Given the description of an element on the screen output the (x, y) to click on. 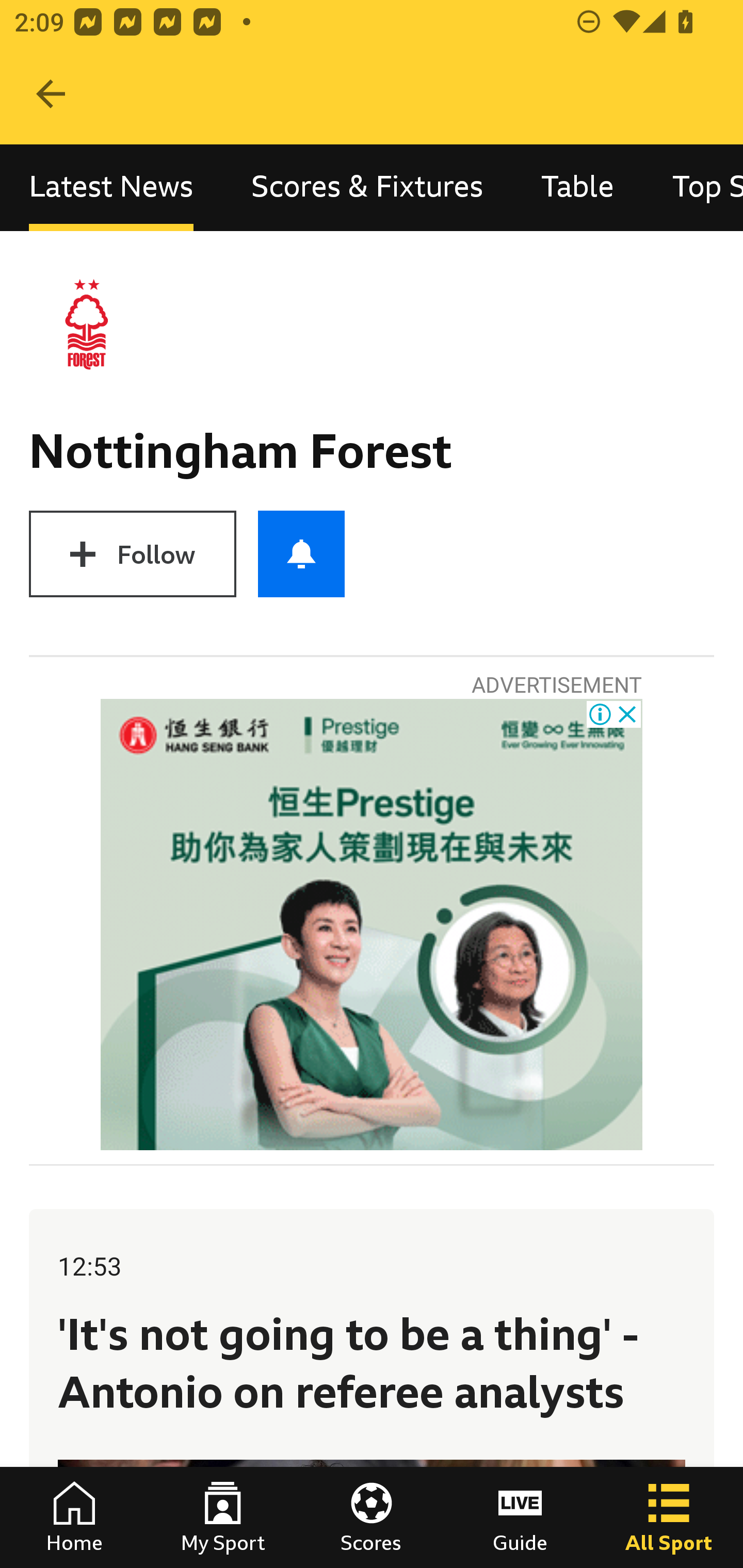
Navigate up (50, 93)
Latest News, selected Latest News (111, 187)
Scores & Fixtures (367, 187)
Table (577, 187)
Top Scorers (693, 187)
Follow Nottingham Forest Follow (132, 554)
Push notifications for Nottingham Forest (300, 554)
Advertisement (371, 924)
Home (74, 1517)
My Sport (222, 1517)
Scores (371, 1517)
Guide (519, 1517)
